Given the description of an element on the screen output the (x, y) to click on. 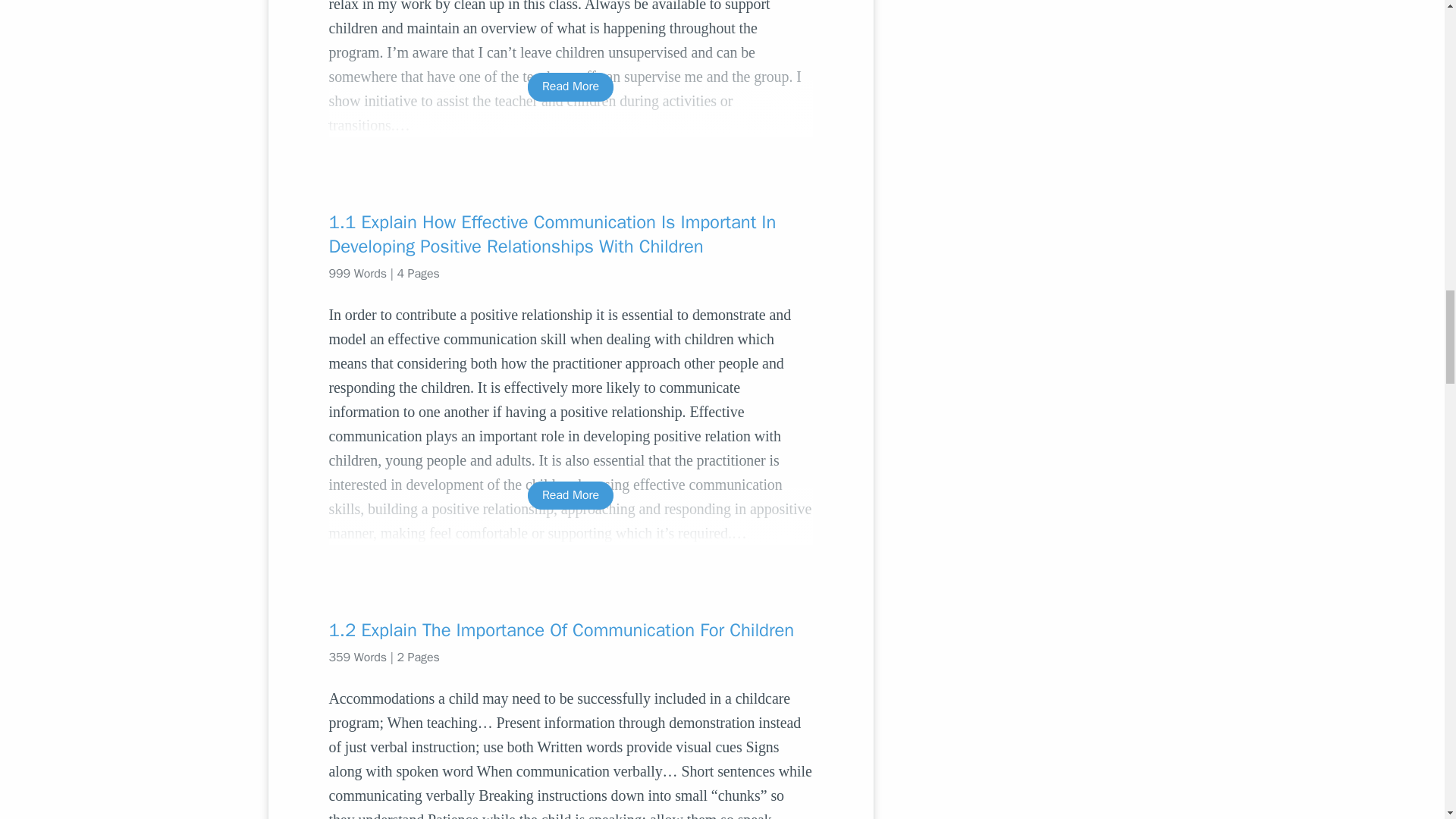
1.2 Explain The Importance Of Communication For Children (570, 630)
Read More (569, 495)
Read More (569, 86)
